Given the description of an element on the screen output the (x, y) to click on. 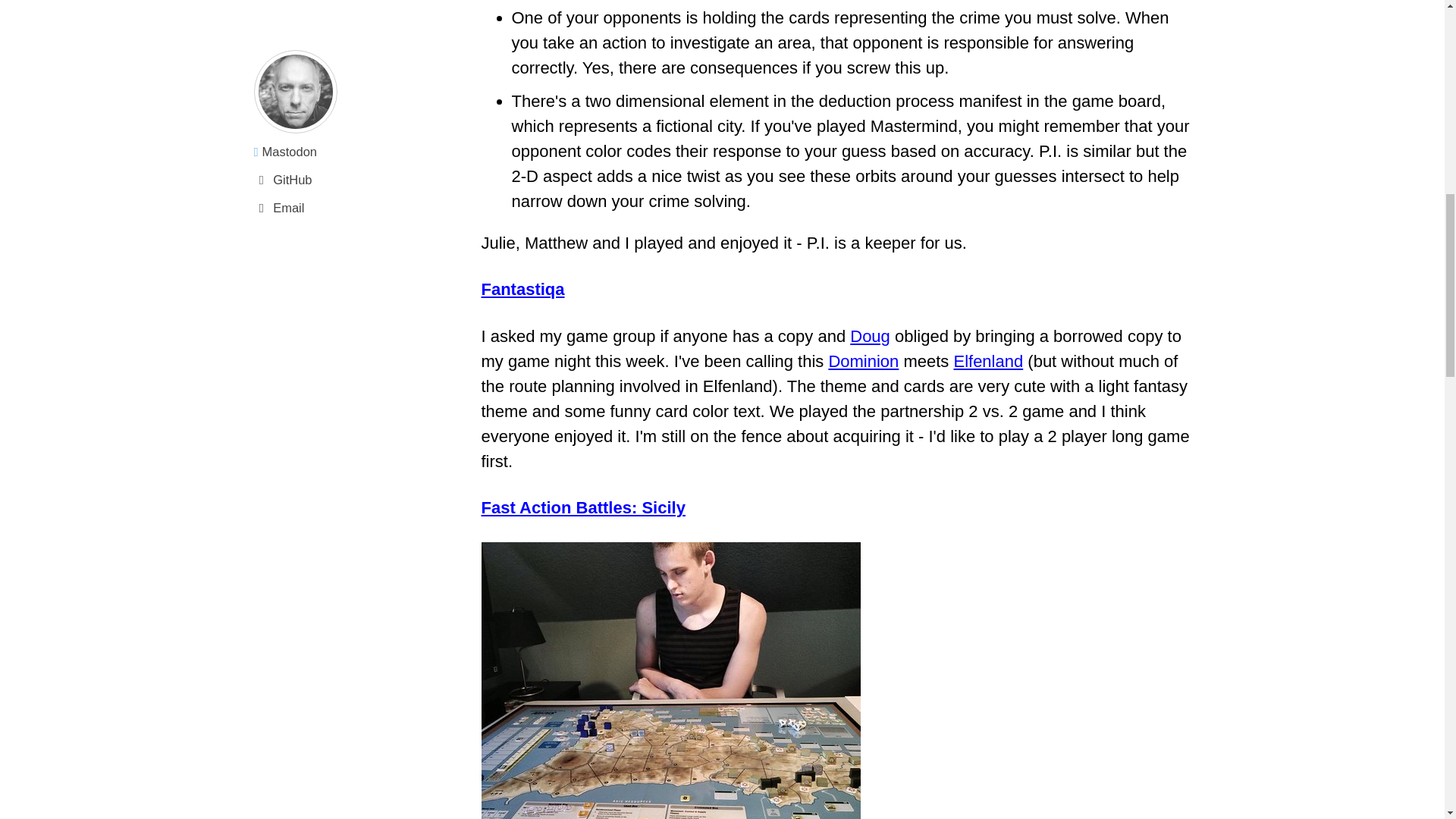
Elfenland (988, 361)
Doug (869, 335)
Dominion (863, 361)
Fast Action Battles: Sicily (582, 506)
Fantastiqa (522, 289)
